Given the description of an element on the screen output the (x, y) to click on. 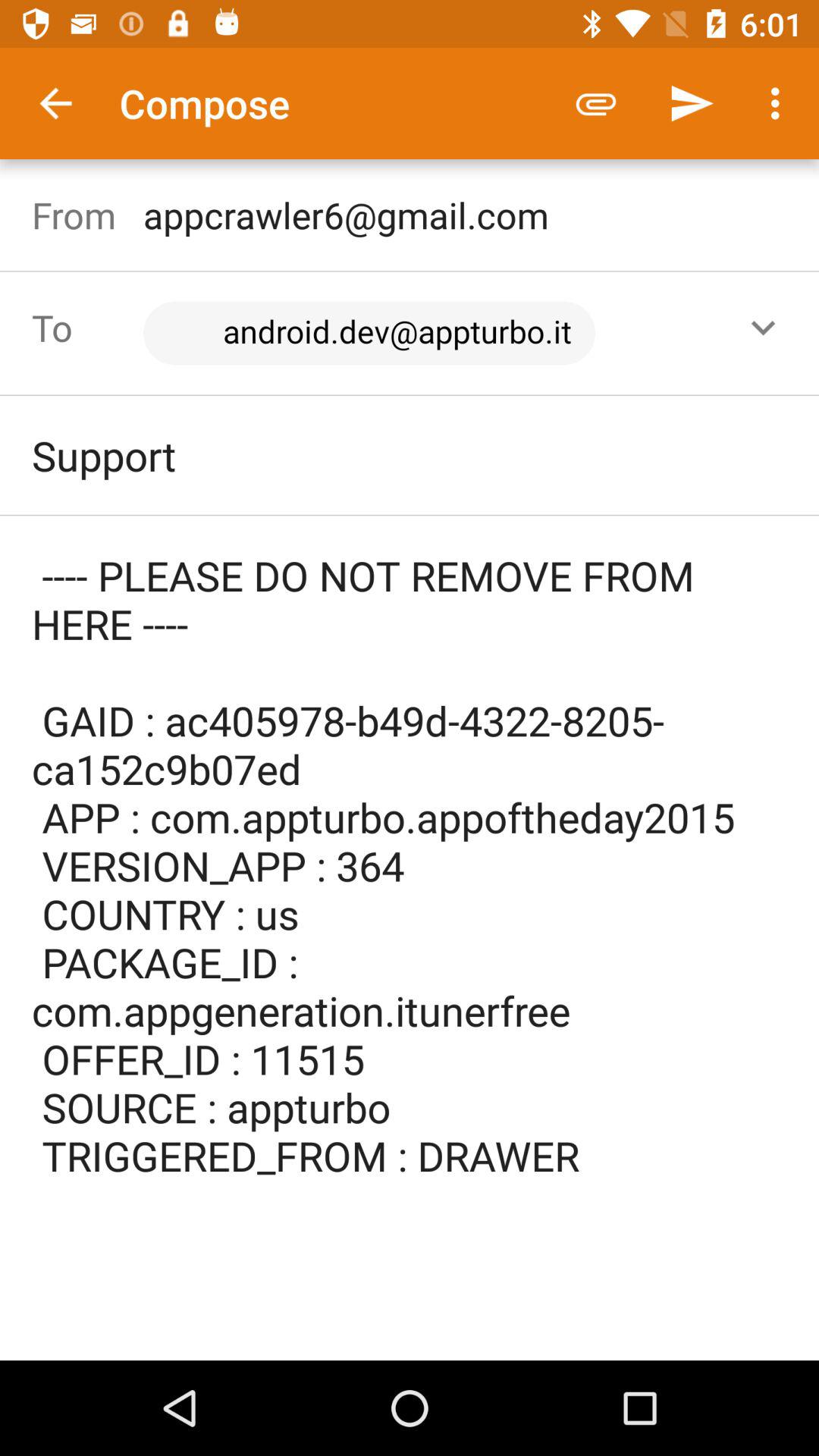
flip until the please do not (409, 889)
